Given the description of an element on the screen output the (x, y) to click on. 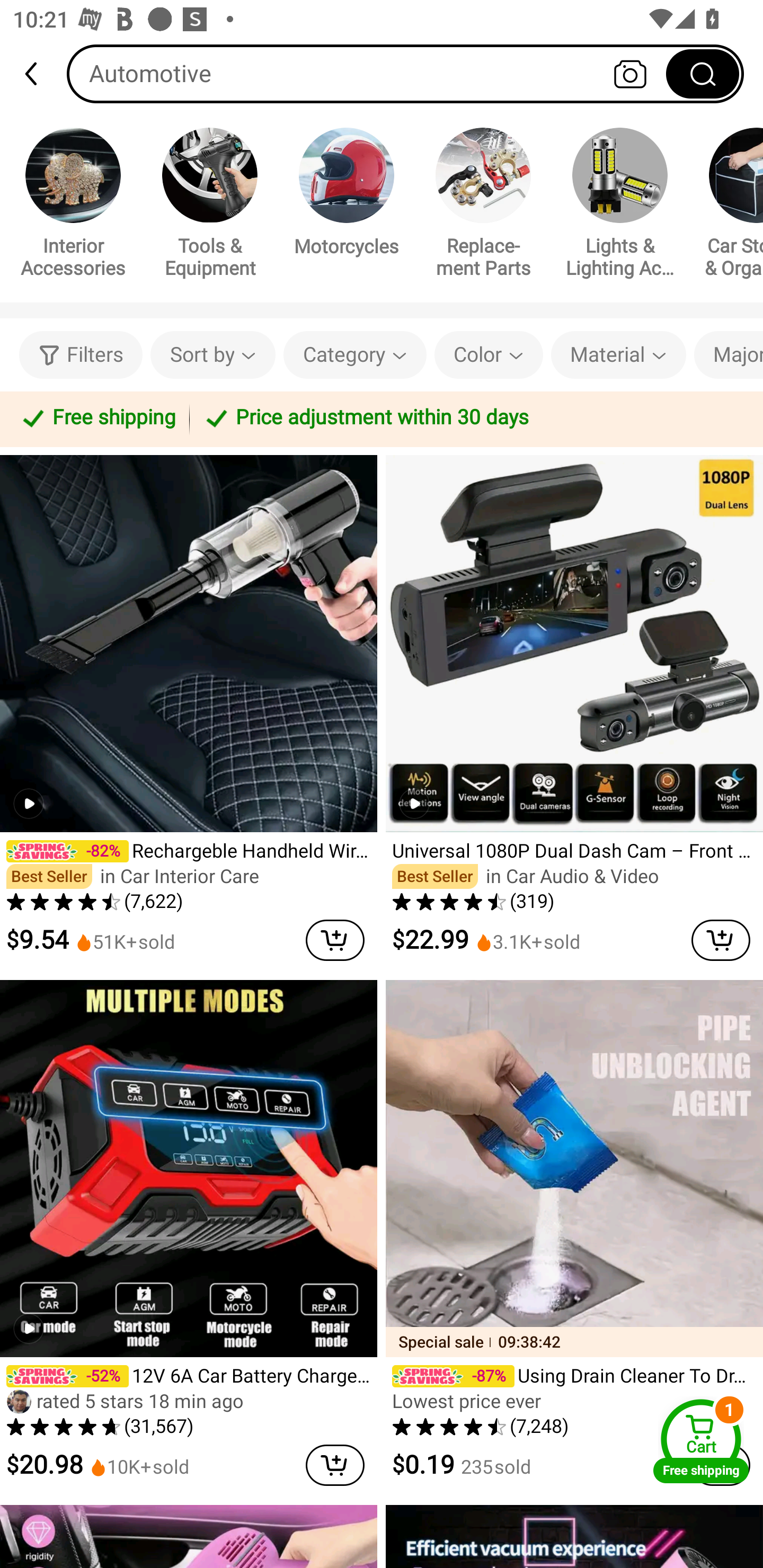
back (39, 73)
Automotive (405, 73)
Interior Accessories (73, 205)
Tools & Equipment (209, 205)
Motorcycles (346, 195)
Replacement Parts (483, 205)
Lights & Lighting Accessories (619, 205)
Filters (80, 354)
Sort by (212, 354)
Category (354, 354)
Color (488, 354)
Material (617, 354)
Free shipping (97, 418)
Price adjustment within 30 days (472, 418)
cart delete (334, 939)
cart delete (720, 939)
Cart Free shipping Cart (701, 1440)
cart delete (334, 1465)
